Given the description of an element on the screen output the (x, y) to click on. 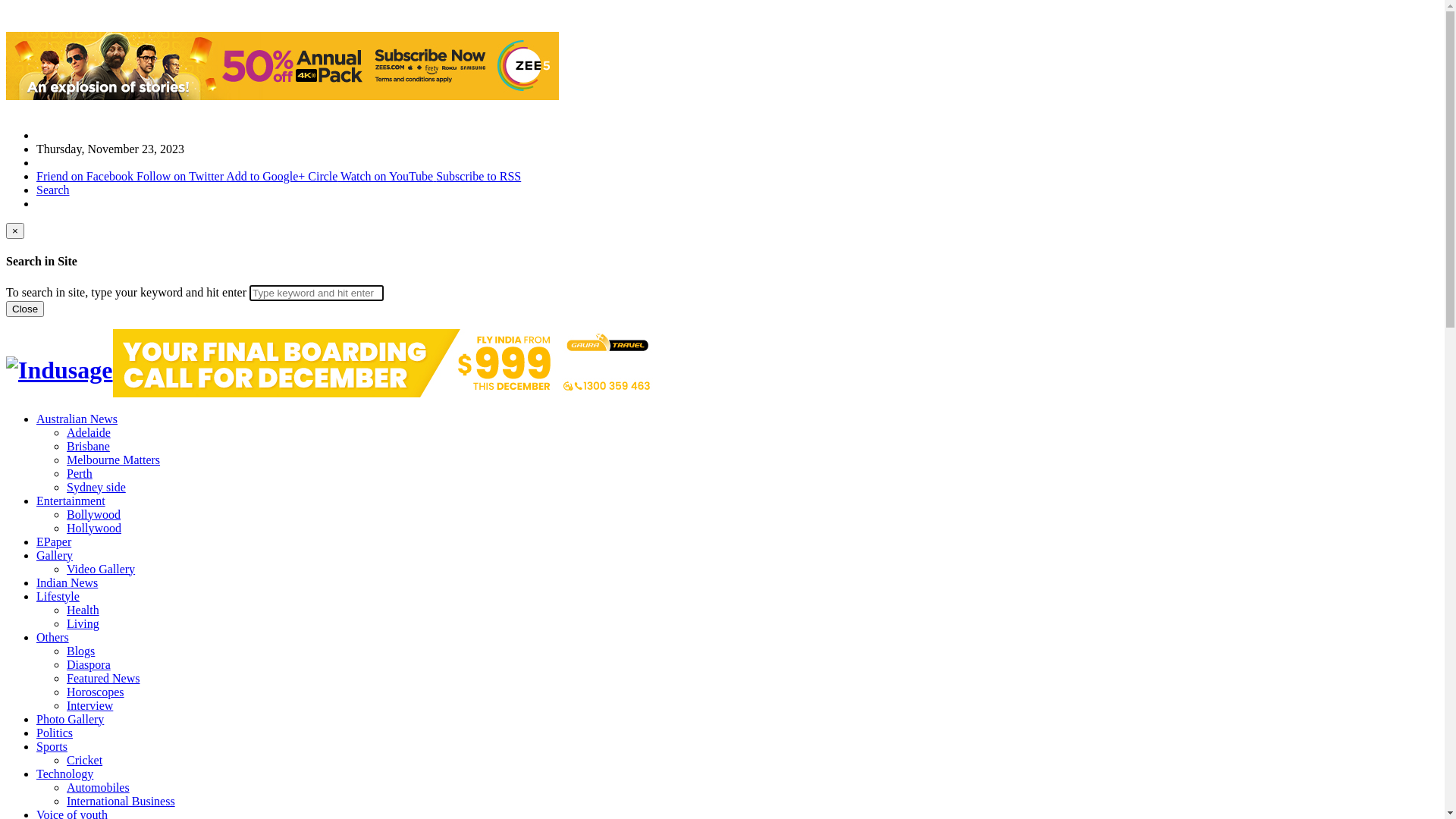
Horoscopes Element type: text (95, 691)
Lifestyle Element type: text (57, 595)
Follow on Twitter Element type: text (180, 175)
Entertainment Element type: text (70, 500)
Brisbane Element type: text (87, 445)
Melbourne Matters Element type: text (113, 459)
Australian News Element type: text (76, 418)
Cricket Element type: text (84, 759)
Watch on YouTube Element type: text (388, 175)
Others Element type: text (52, 636)
Subscribe to RSS Element type: text (478, 175)
Politics Element type: text (54, 732)
Perth Element type: text (79, 473)
Video Gallery Element type: text (100, 568)
Diaspora Element type: text (88, 664)
Automobiles Element type: text (97, 787)
Technology Element type: text (64, 773)
Living Element type: text (82, 623)
Sports Element type: text (51, 746)
Sydney side Element type: text (95, 486)
Hollywood Element type: text (93, 527)
Close Element type: text (24, 308)
Indian News Element type: text (66, 582)
International Business Element type: text (120, 800)
EPaper Element type: text (53, 541)
Blogs Element type: text (80, 650)
Health Element type: text (82, 609)
Add to Google+ Circle Element type: text (282, 175)
Adelaide Element type: text (88, 432)
Search Element type: text (52, 189)
Indusage Element type: hover (59, 370)
Friend on Facebook Element type: text (86, 175)
Gallery Element type: text (54, 555)
Featured News Element type: text (102, 677)
Photo Gallery Element type: text (69, 718)
Interview Element type: text (89, 705)
Bollywood Element type: text (93, 514)
No 1 Indian newspaper in Australia Element type: hover (59, 369)
